Given the description of an element on the screen output the (x, y) to click on. 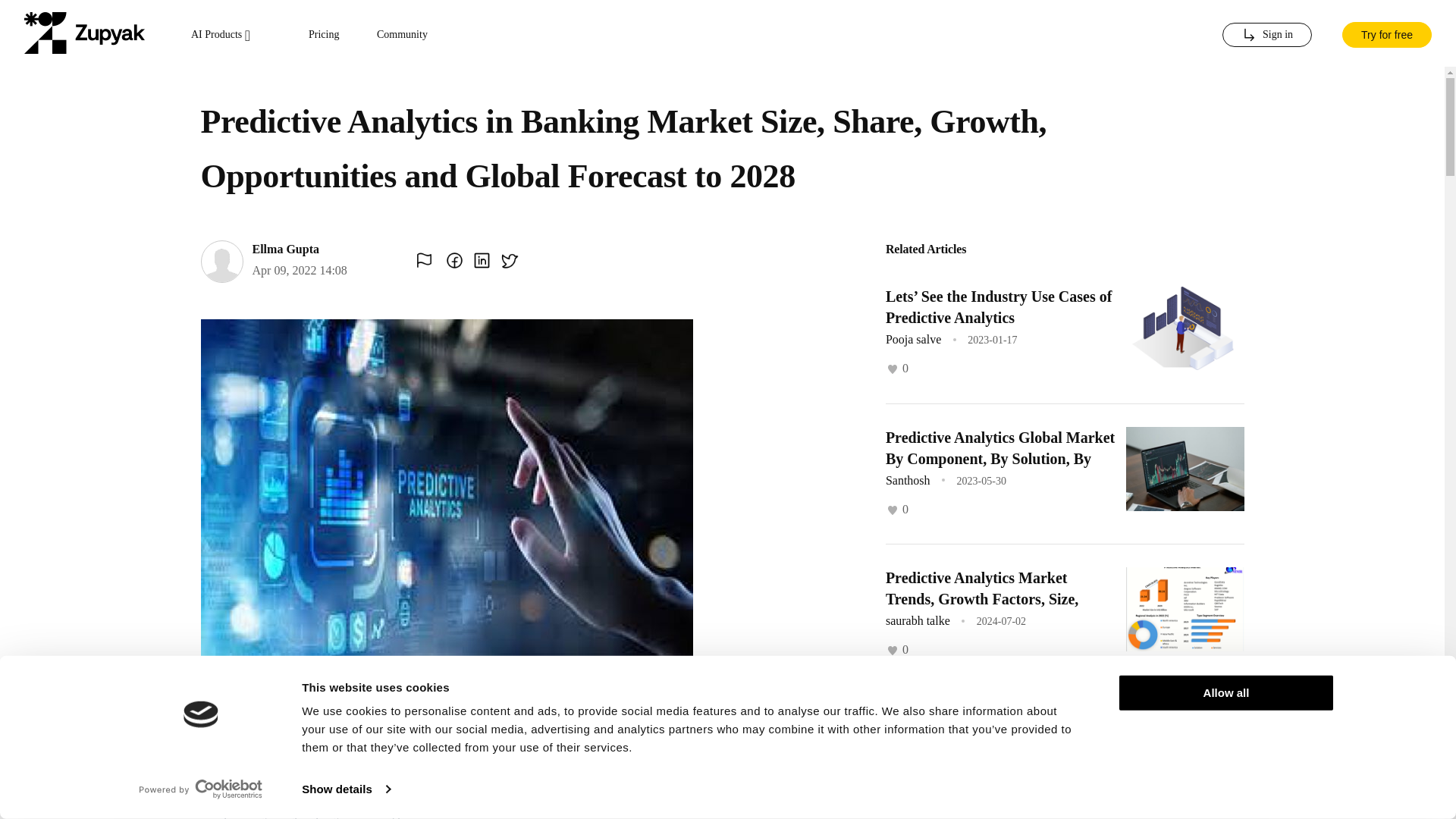
Show details (345, 789)
